Given the description of an element on the screen output the (x, y) to click on. 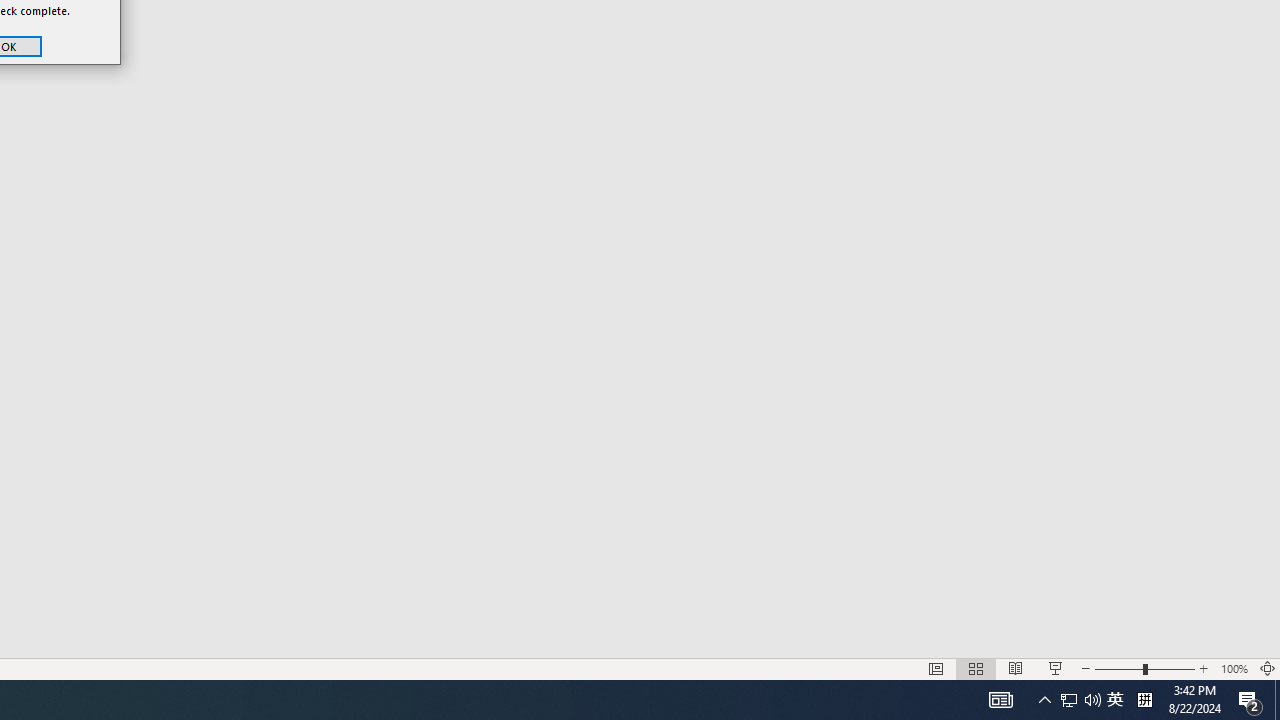
Zoom 100% (1234, 668)
